Given the description of an element on the screen output the (x, y) to click on. 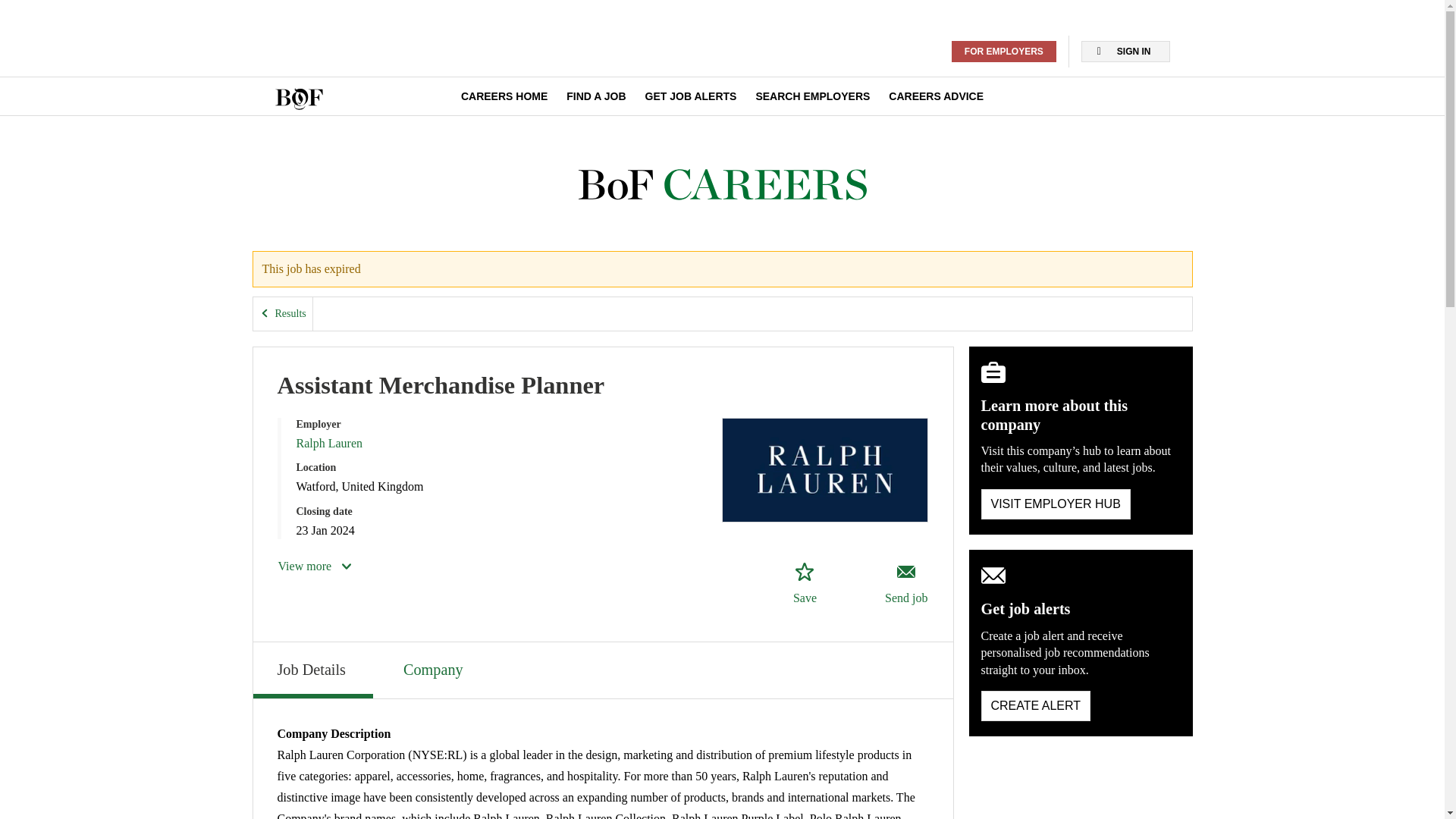
CAREERS HOME (504, 96)
BoF Careers (722, 184)
GET JOB ALERTS (690, 96)
SEARCH EMPLOYERS (812, 96)
CREATE ALERT (1035, 706)
SIGN IN (1125, 51)
VISIT EMPLOYER HUB (1056, 503)
CAREERS ADVICE (936, 96)
Results (283, 313)
Ralph Lauren (328, 442)
Company (434, 667)
View more (315, 565)
Send job (905, 584)
FOR EMPLOYERS (1004, 51)
